Given the description of an element on the screen output the (x, y) to click on. 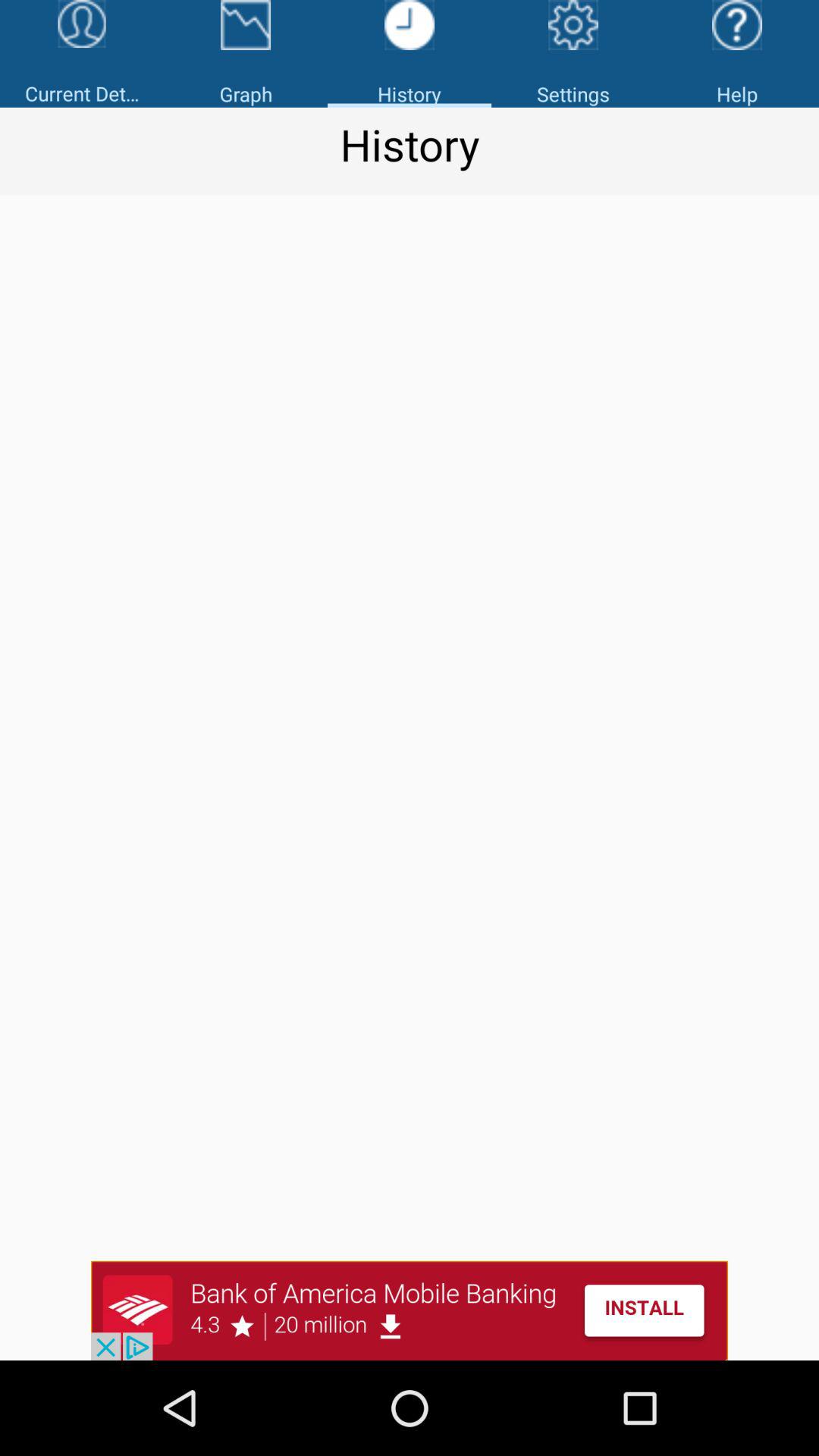
click on advertisements (409, 1310)
